Given the description of an element on the screen output the (x, y) to click on. 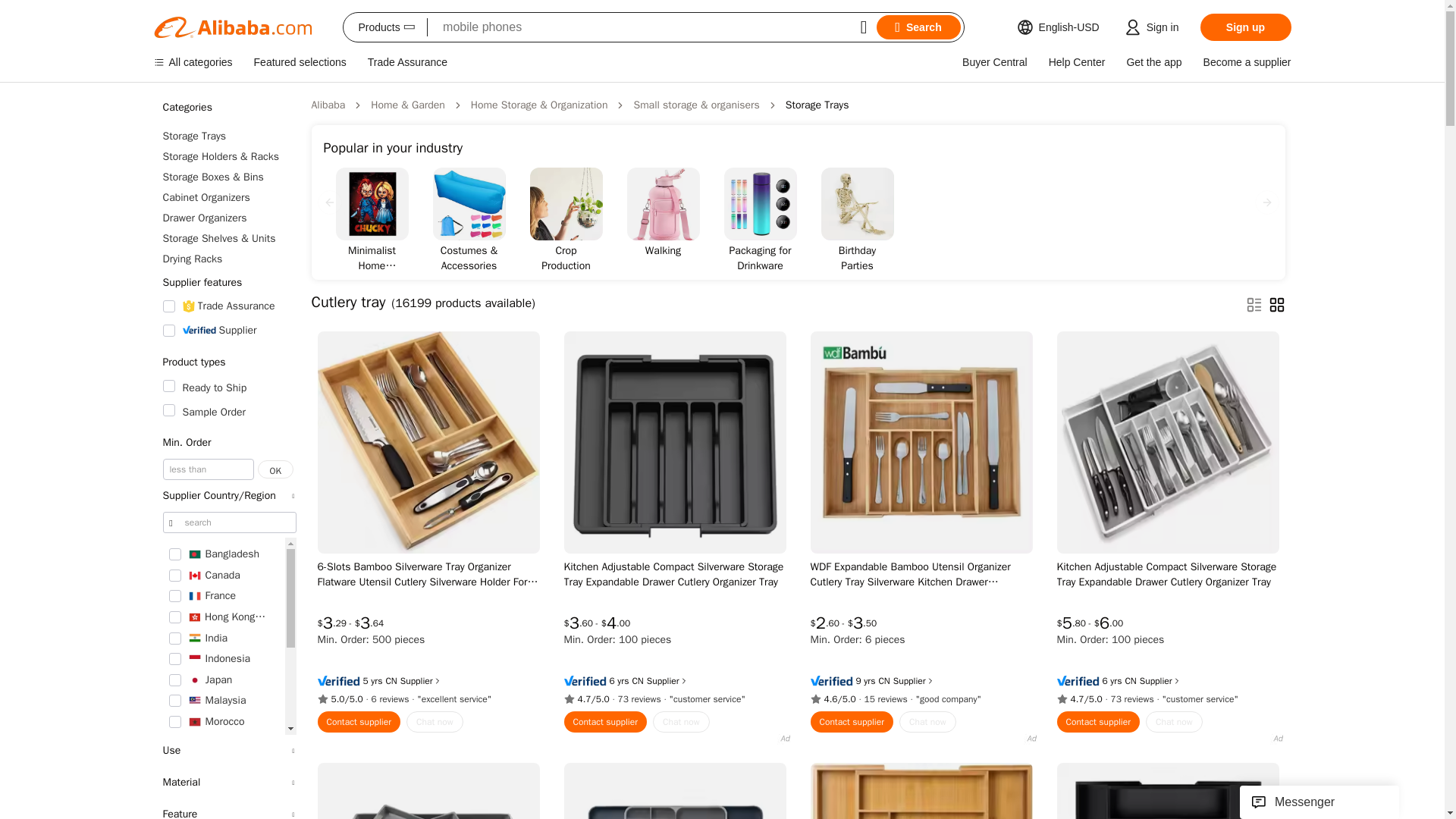
Storage Trays (228, 135)
Categories (228, 107)
